Given the description of an element on the screen output the (x, y) to click on. 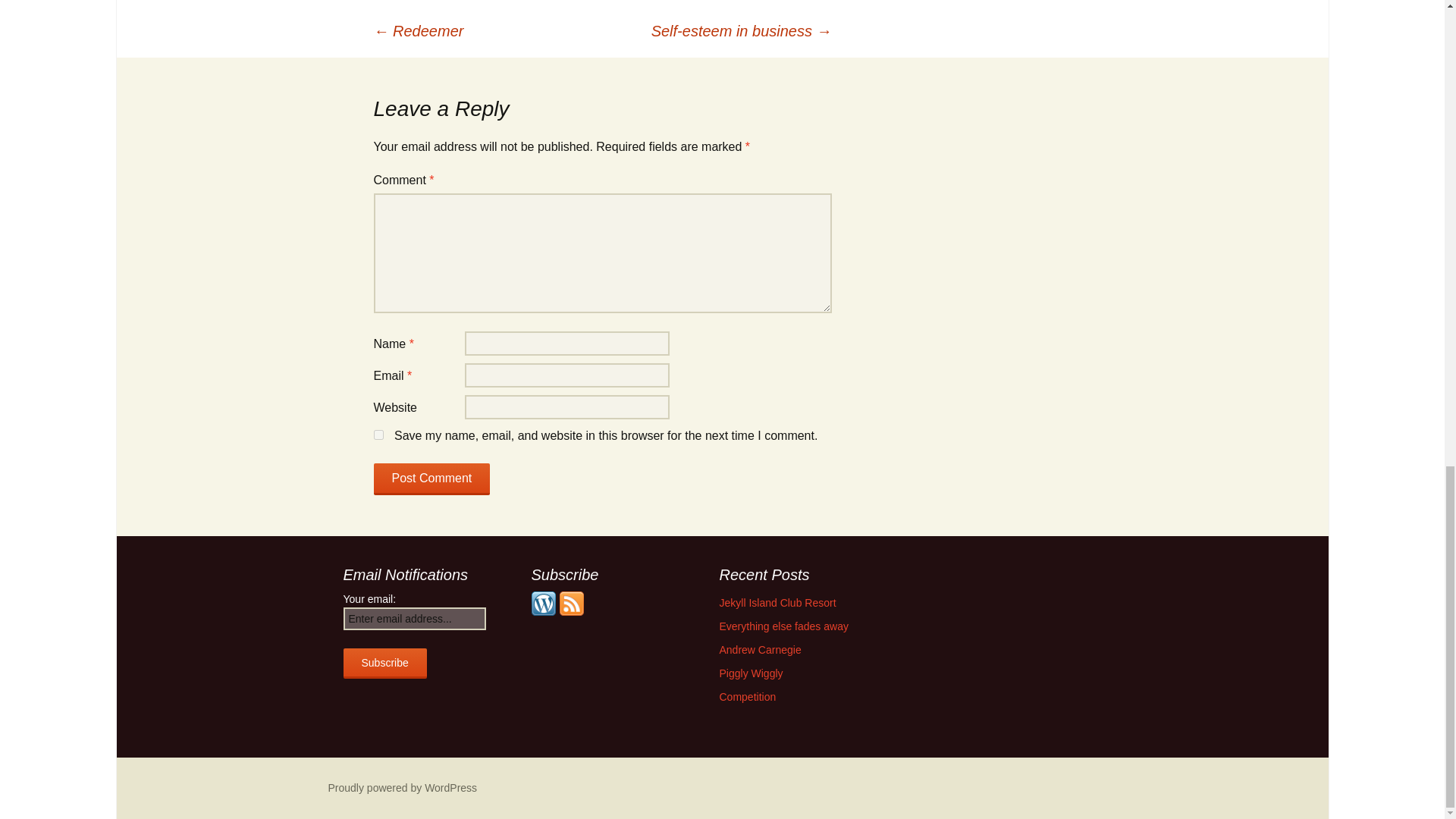
Piggly Wiggly (751, 673)
Jekyll Island Club Resort (777, 603)
Competition (747, 696)
Subscribe (384, 663)
Andrew Carnegie (759, 649)
yes (377, 434)
Subscribe to posts via RSS feed (571, 602)
Proudly powered by WordPress (402, 787)
Subscribe (384, 663)
WordPress.com Blog (542, 602)
Post Comment (430, 479)
Enter email address... (413, 618)
Post Comment (430, 479)
Everything else fades away (783, 625)
